Given the description of an element on the screen output the (x, y) to click on. 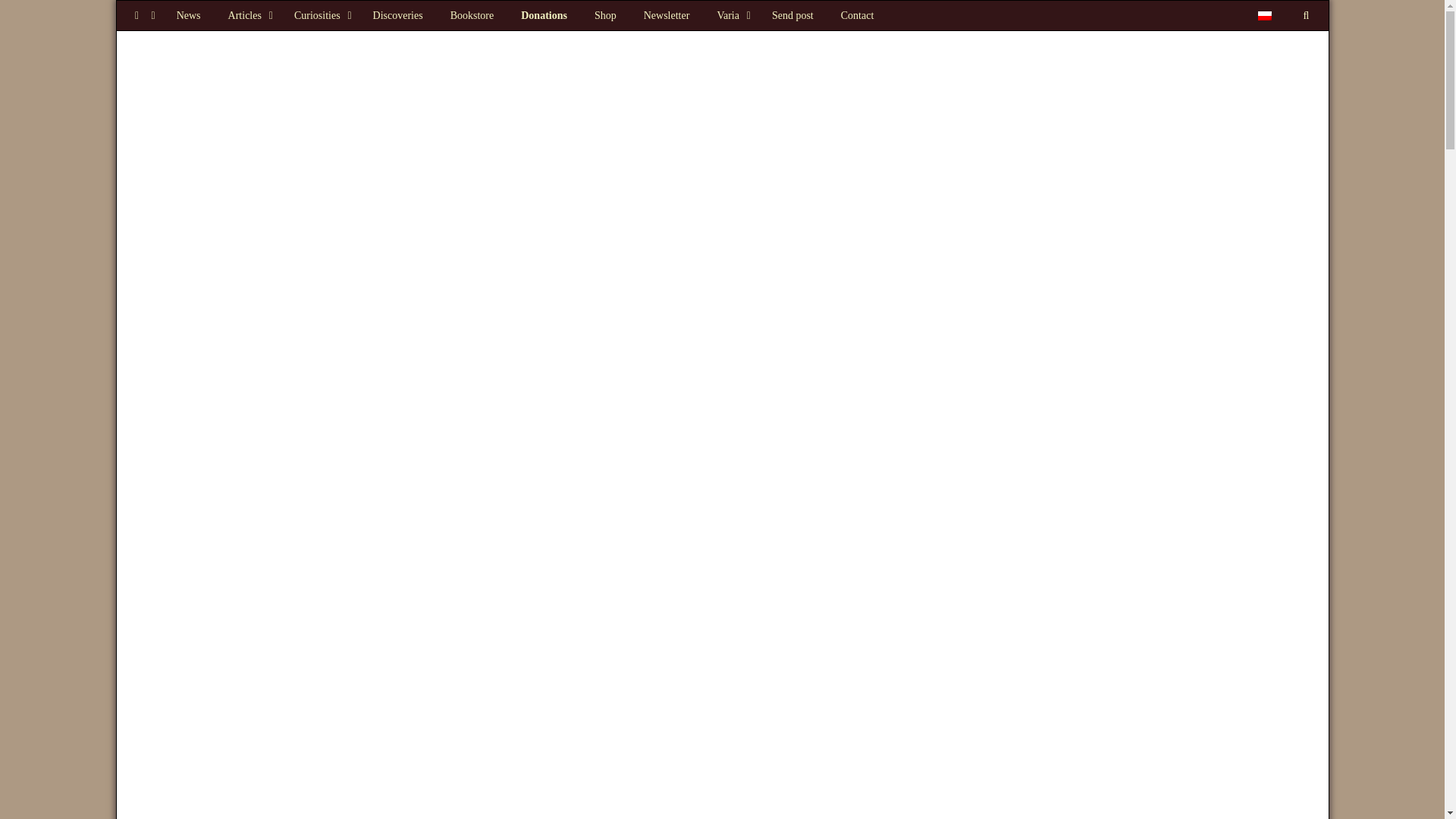
Donations (543, 15)
Other matters related to website (730, 15)
Curiosities about ancient Rome (320, 15)
Discoveries about ancient Rome (397, 15)
Main page (188, 15)
Articles about ancient Rome (247, 15)
Roman shop (605, 15)
